Given the description of an element on the screen output the (x, y) to click on. 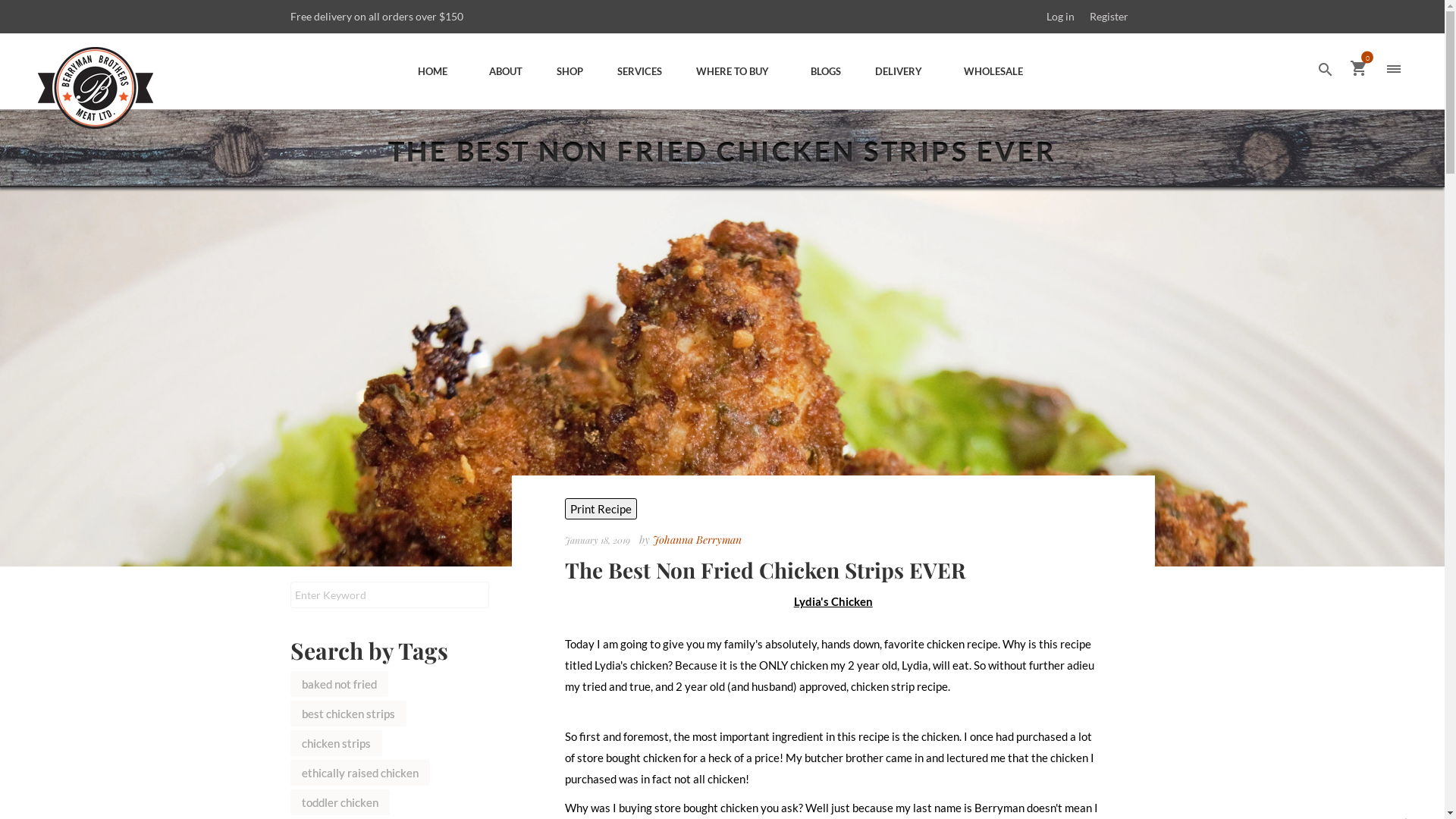
WHOLESALE Element type: text (994, 70)
SHOP Element type: text (567, 70)
DELIVERY Element type: text (900, 70)
toddler chicken Element type: text (339, 802)
Register Element type: text (1107, 16)
HOME Element type: text (434, 70)
SERVICES Element type: text (637, 70)
BLOGS Element type: text (823, 70)
ABOUT Element type: text (503, 70)
baked not fried Element type: text (339, 683)
chicken strips Element type: text (336, 743)
January 18, 2019 Element type: text (598, 539)
best chicken strips Element type: text (348, 713)
0 Element type: text (1357, 69)
Berryman Brothers Element type: hover (105, 80)
Log in Element type: text (1060, 16)
ethically raised chicken Element type: text (360, 772)
Johanna Berryman Element type: text (696, 539)
Print Recipe Element type: text (600, 508)
WHERE TO BUY Element type: text (734, 70)
